Given the description of an element on the screen output the (x, y) to click on. 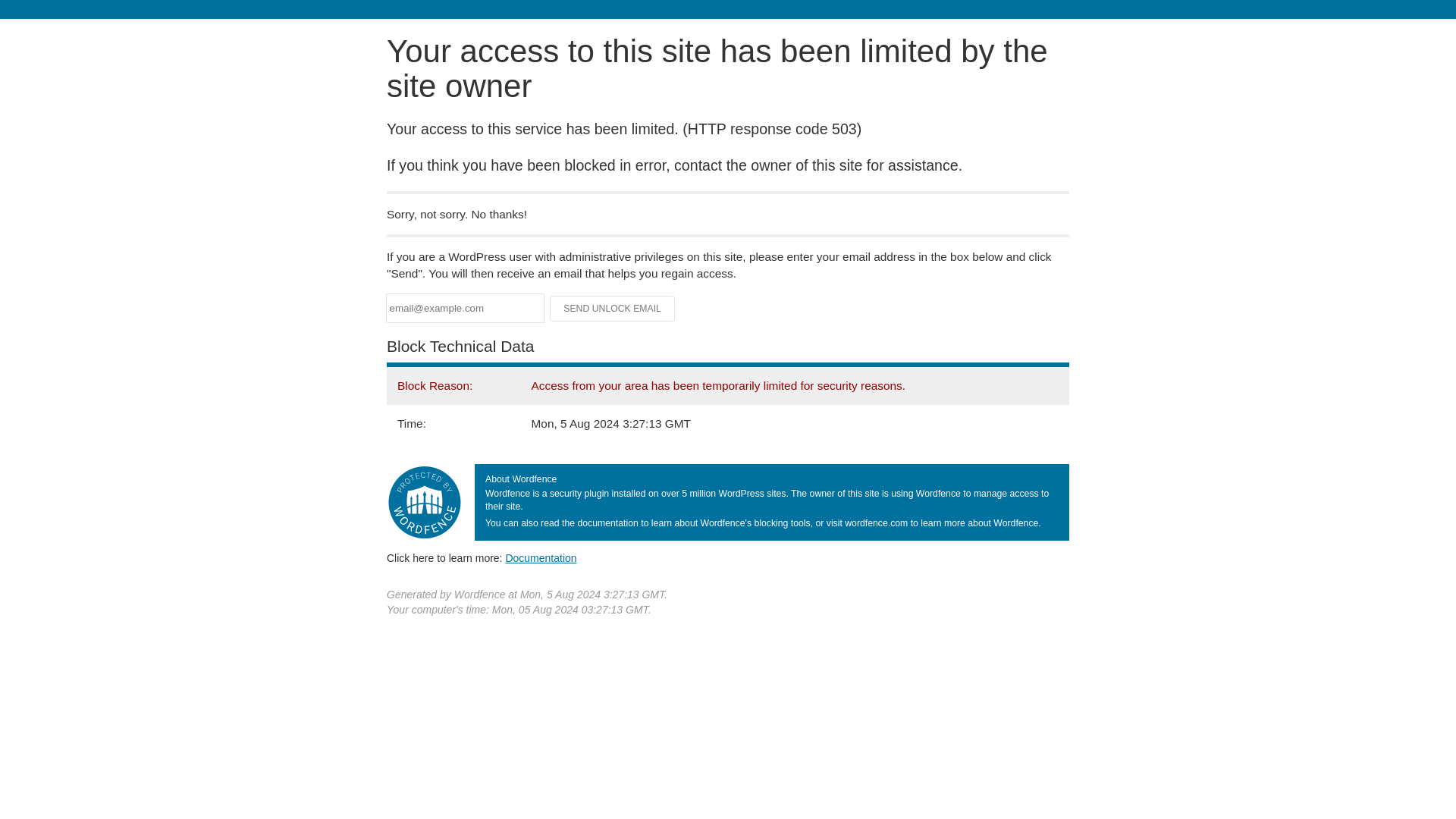
Send Unlock Email (612, 308)
Documentation (540, 558)
Send Unlock Email (612, 308)
